Given the description of an element on the screen output the (x, y) to click on. 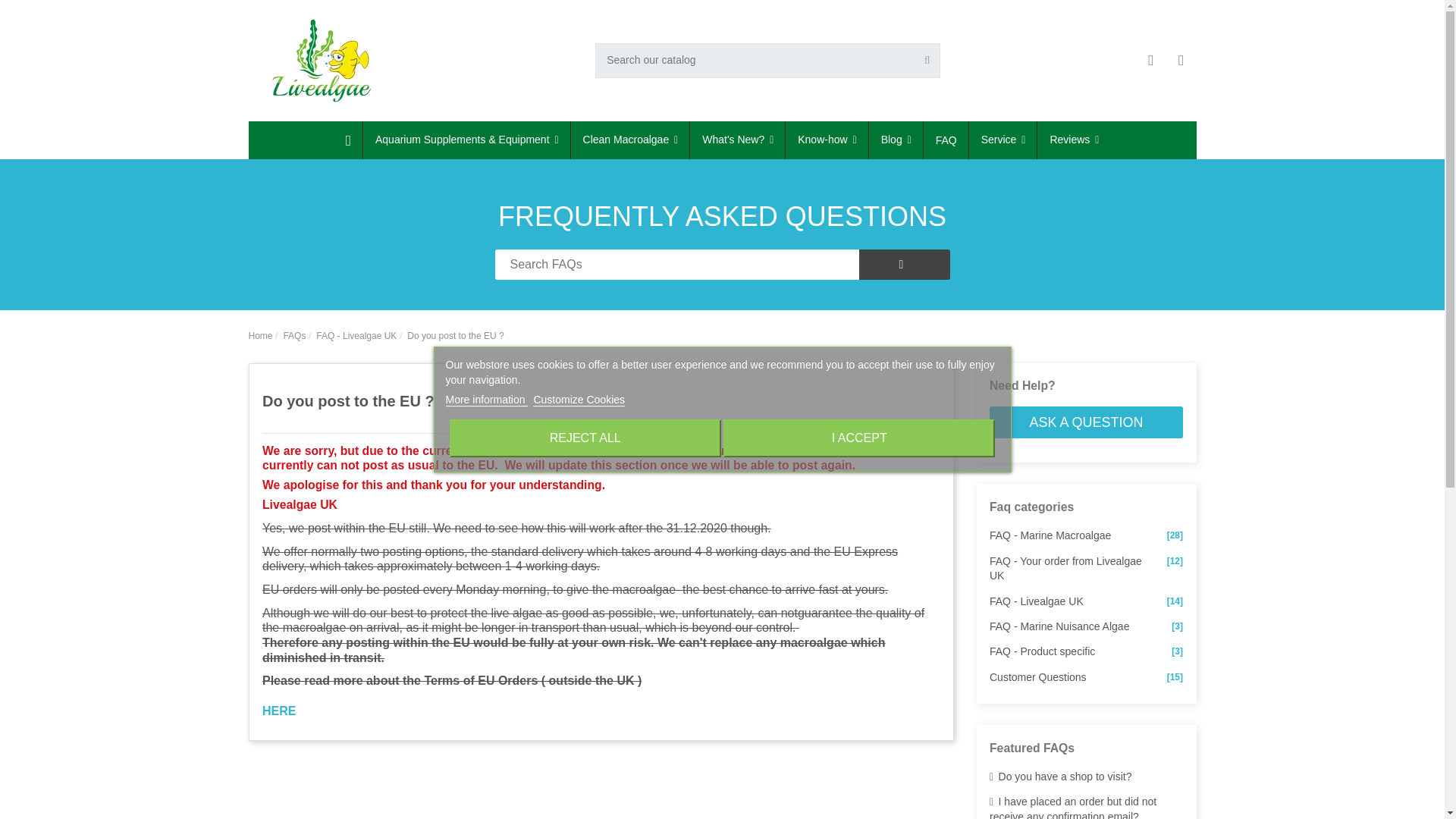
Log in to your customer account (1150, 60)
